Given the description of an element on the screen output the (x, y) to click on. 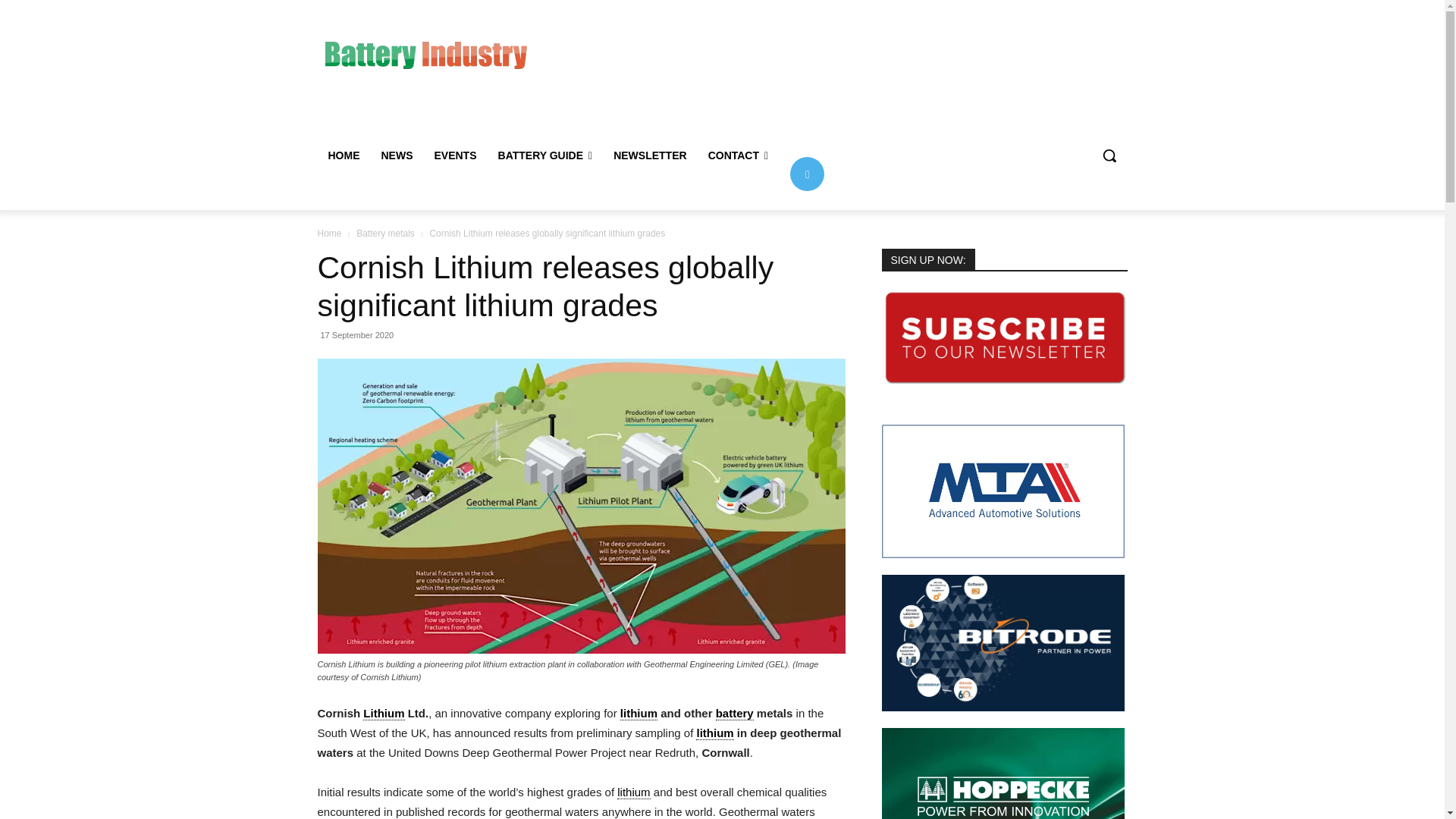
EVENTS (454, 155)
Glossary: Lithium (633, 792)
Glossary: Lithium (714, 733)
Linkedin (807, 173)
BATTERY GUIDE (545, 155)
Glossary: Lithium (639, 713)
NEWS (396, 155)
Glossary: Battery (735, 713)
View all posts in Battery metals (385, 233)
HOME (343, 155)
